Given the description of an element on the screen output the (x, y) to click on. 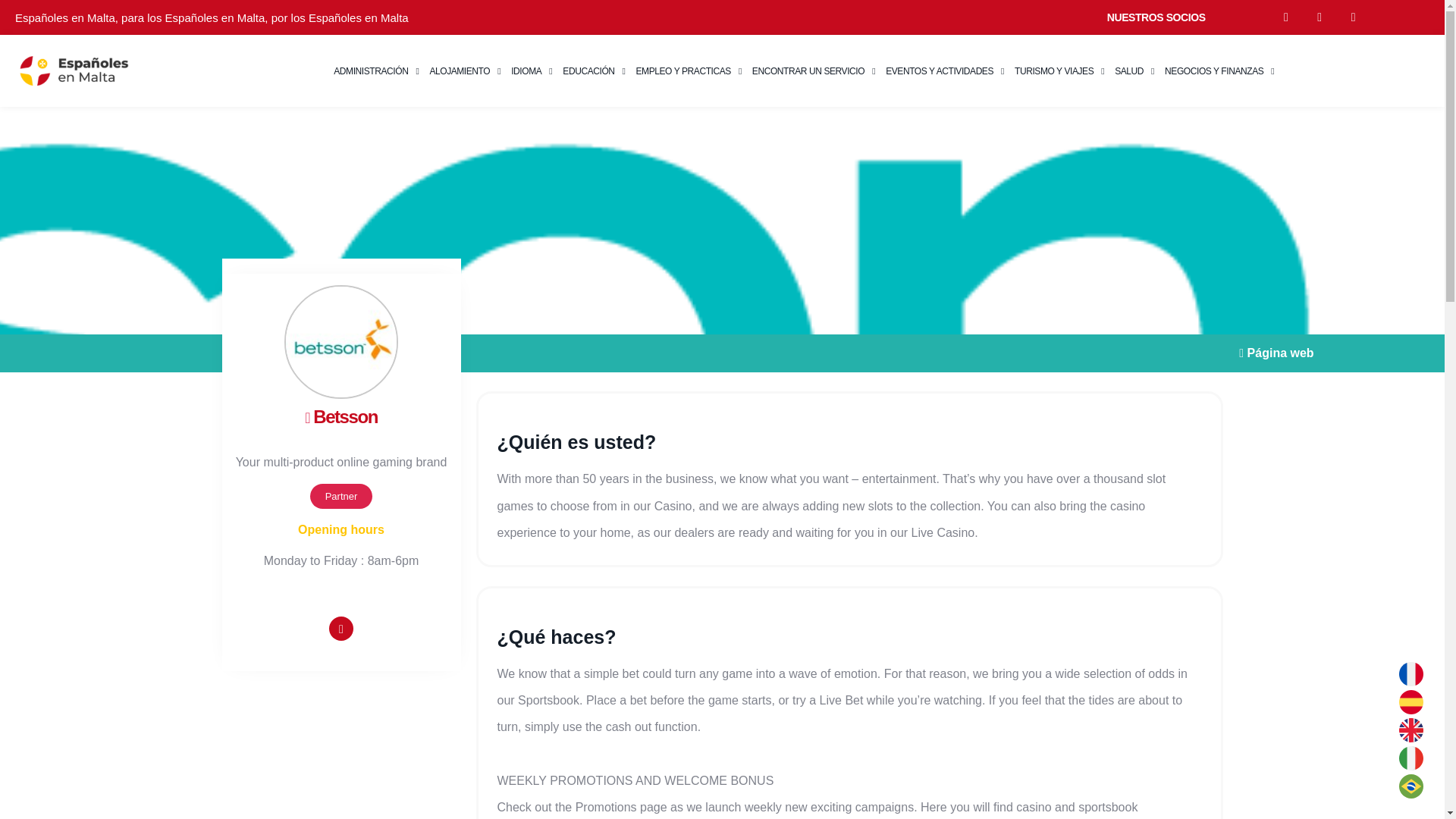
NUESTROS SOCIOS (1156, 17)
ALOJAMIENTO (464, 71)
IDIOMA (531, 71)
ENCONTRAR UN SERVICIO (813, 71)
EMPLEO Y PRACTICAS (688, 71)
